Given the description of an element on the screen output the (x, y) to click on. 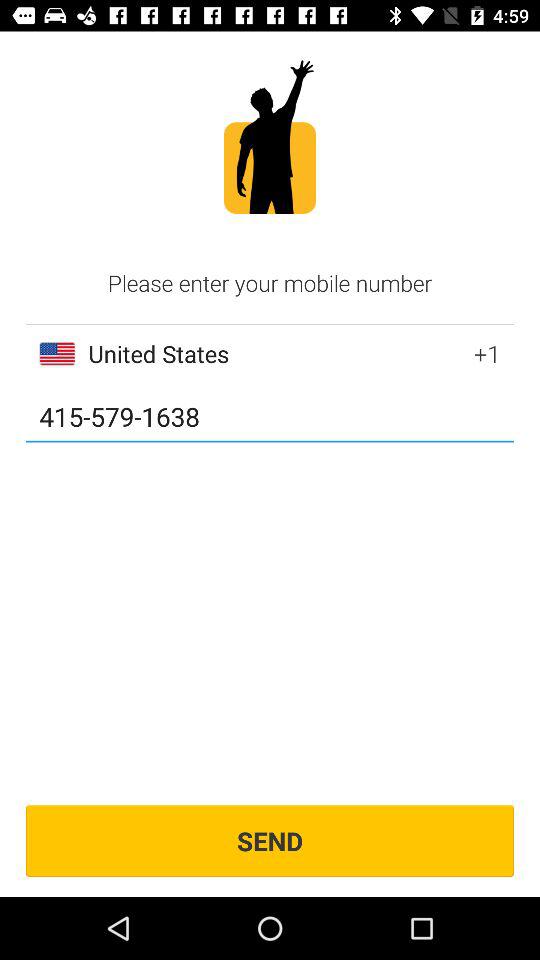
click the send icon (269, 840)
